Given the description of an element on the screen output the (x, y) to click on. 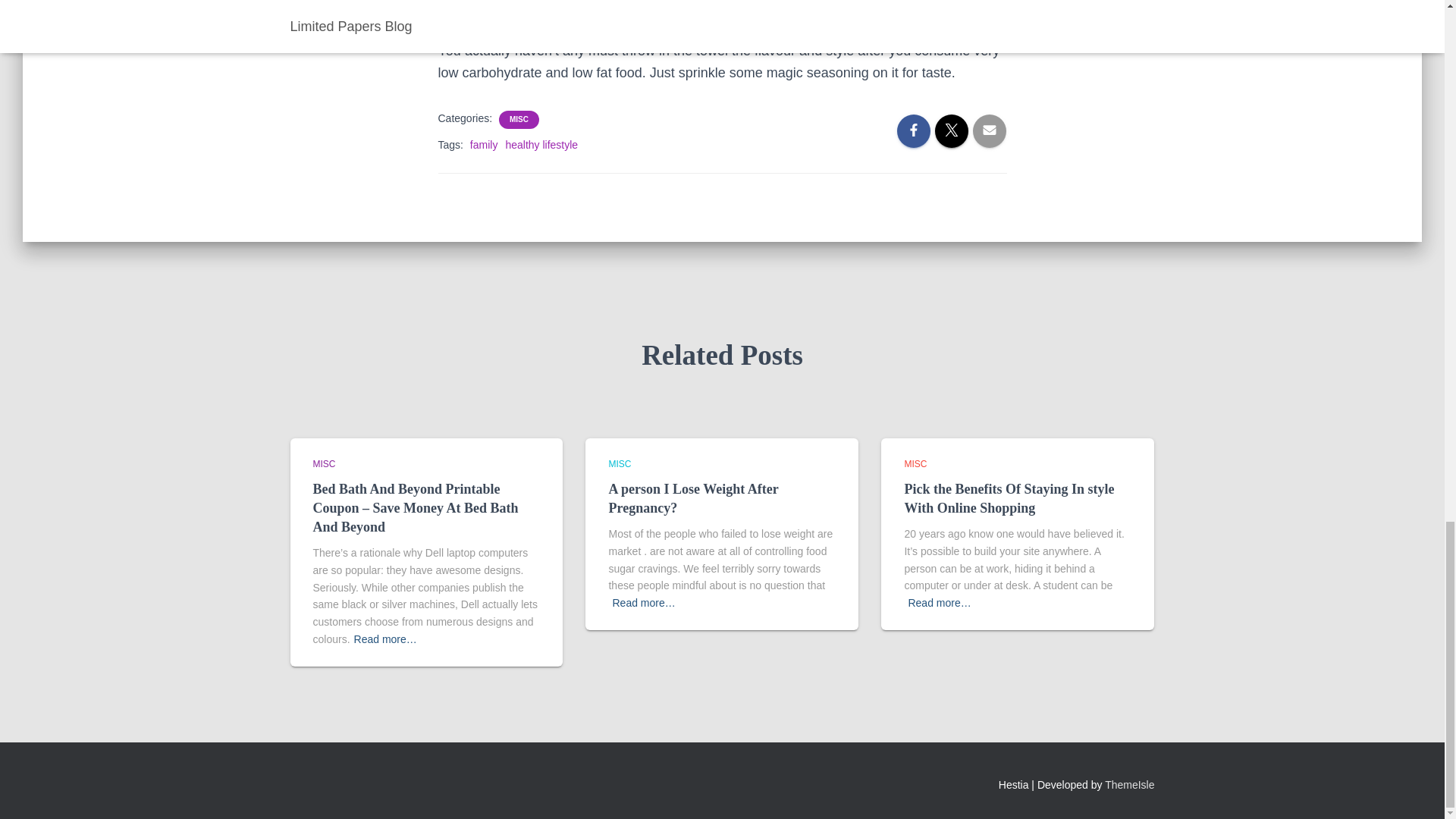
View all posts in Misc (323, 463)
Pick the Benefits Of Staying In style With Online Shopping (1008, 498)
healthy lifestyle (541, 144)
MISC (915, 463)
A person I Lose Weight After Pregnancy? (692, 498)
A person I Lose Weight After Pregnancy? (692, 498)
MISC (323, 463)
family (483, 144)
Pick the Benefits Of Staying In style With Online Shopping (1008, 498)
View all posts in Misc (915, 463)
